Given the description of an element on the screen output the (x, y) to click on. 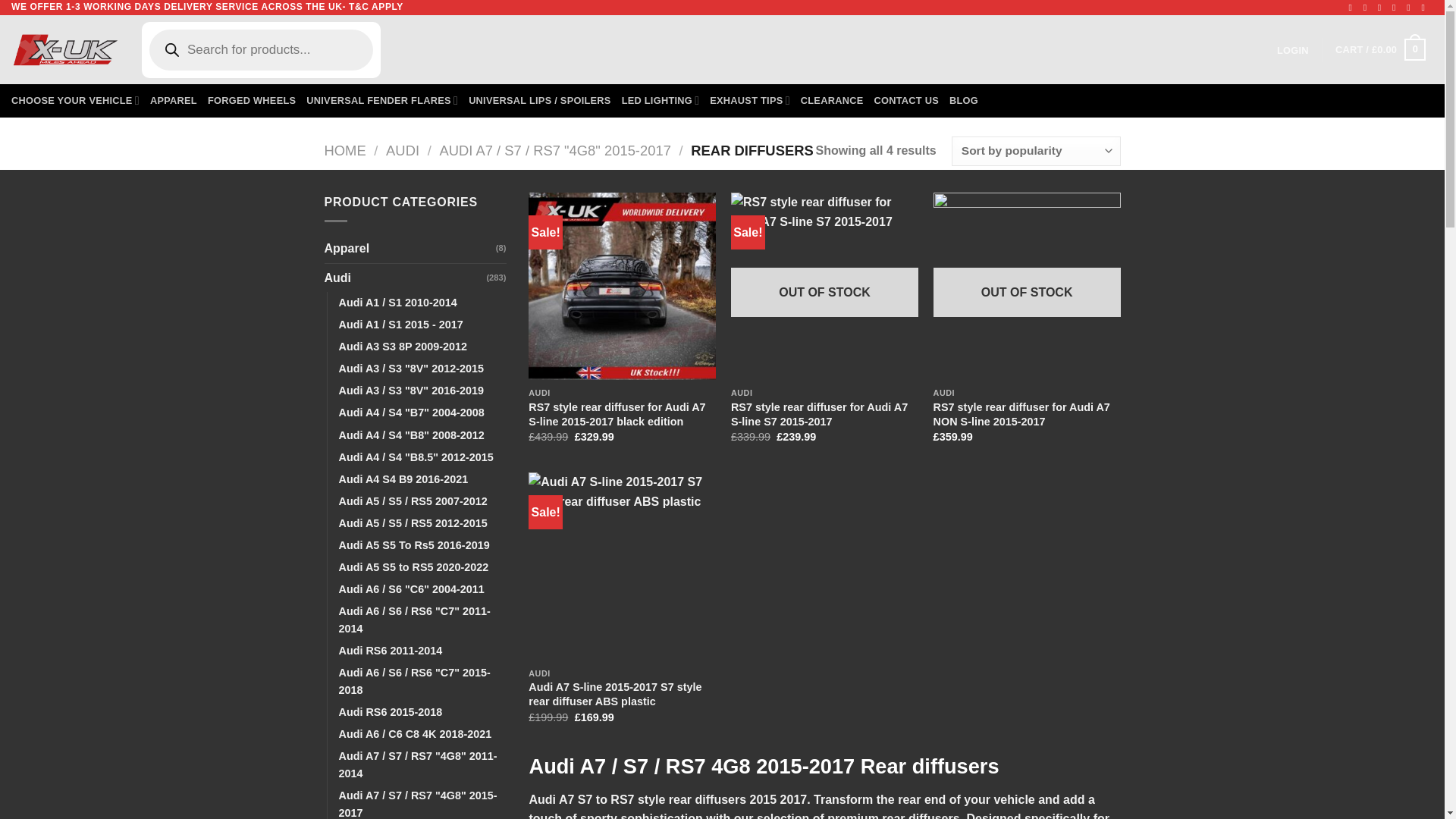
UNIVERSAL FENDER FLARES (381, 100)
LOGIN (1292, 50)
LED LIGHTING (660, 100)
CHOOSE YOUR VEHICLE (75, 100)
APPAREL (172, 100)
Xenonz UK (65, 49)
FORGED WHEELS (251, 100)
EXHAUST TIPS (750, 100)
Cart (1379, 49)
